Given the description of an element on the screen output the (x, y) to click on. 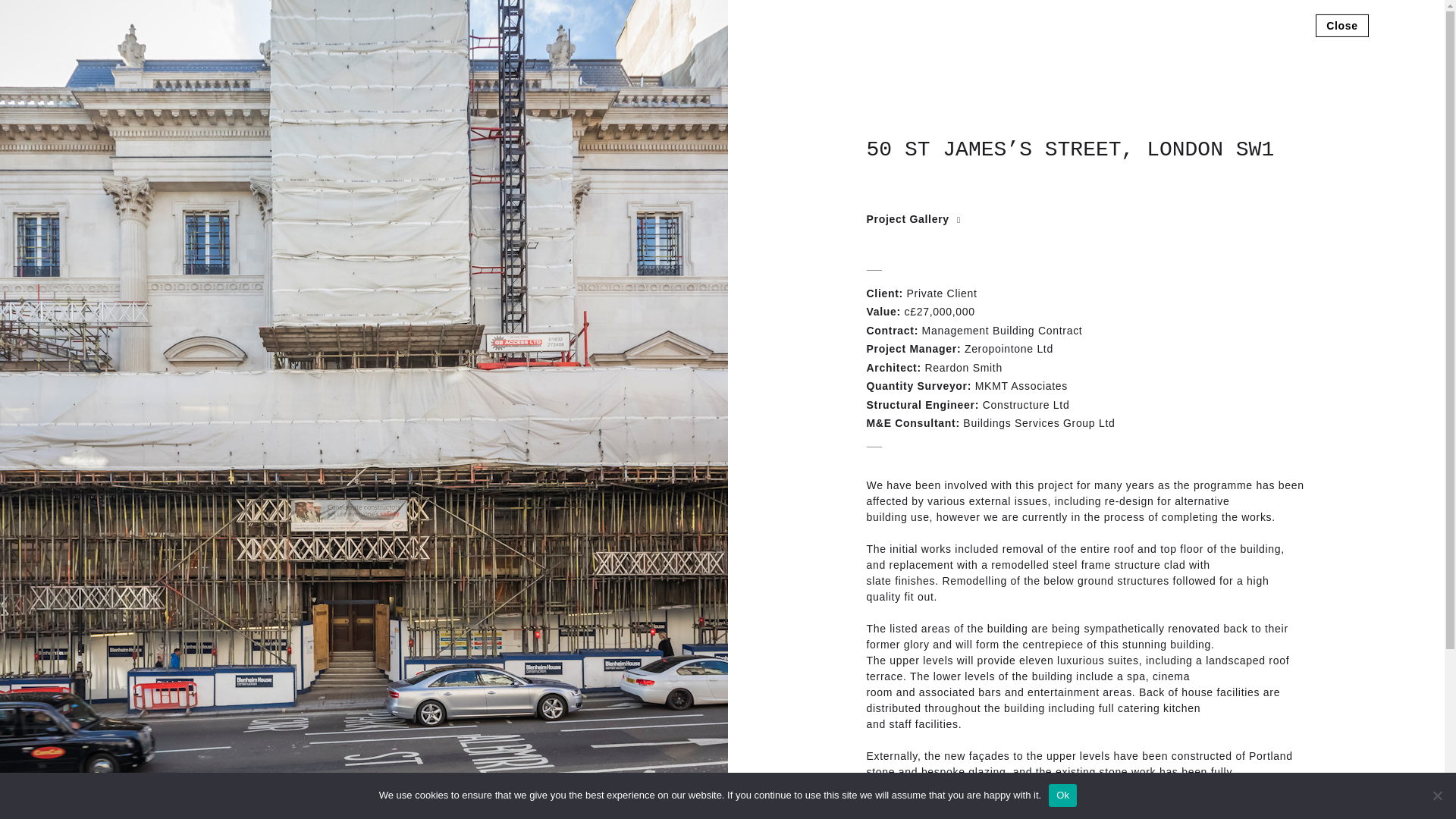
Project Gallery (912, 218)
Ok (1062, 794)
Close (1342, 24)
No (1436, 795)
